Given the description of an element on the screen output the (x, y) to click on. 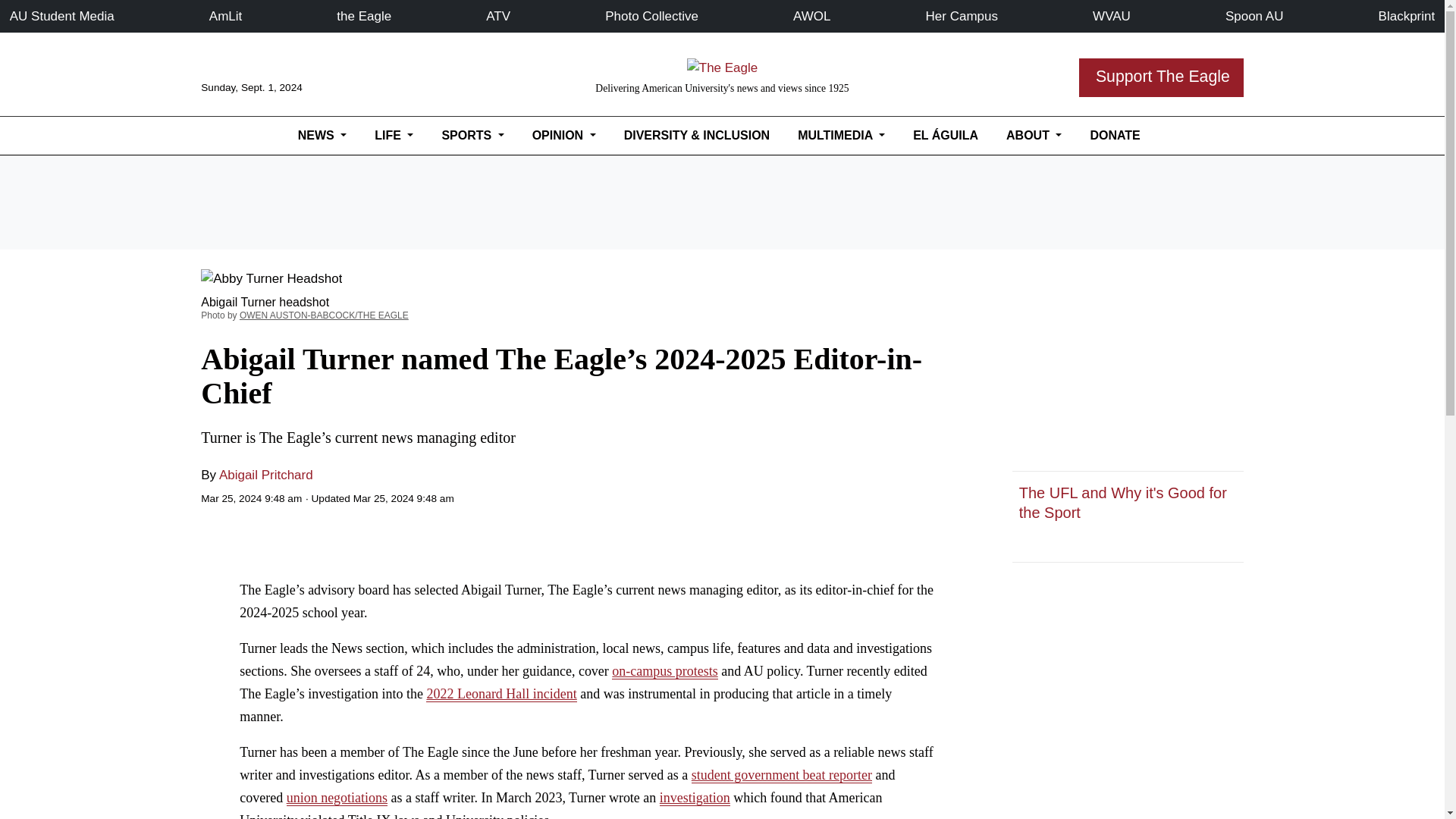
Her Campus (961, 16)
Donate (1115, 135)
AWOL (811, 16)
SPORTS (473, 135)
the Eagle (363, 16)
Blackprint (1406, 16)
ATV (498, 16)
Spoon AU (1254, 16)
AmLit (225, 16)
Support The Eagle (1160, 77)
